Given the description of an element on the screen output the (x, y) to click on. 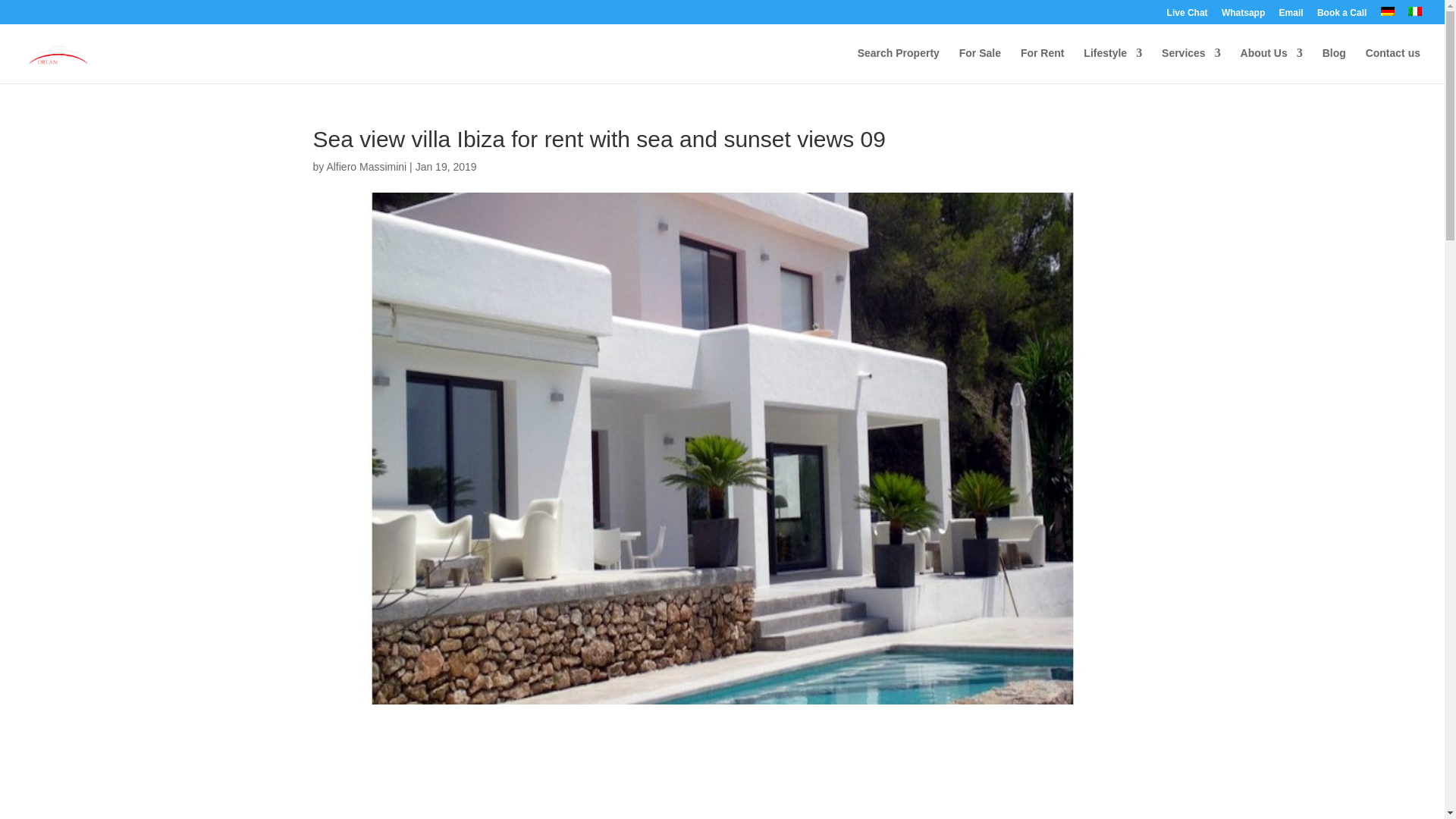
For Sale (980, 65)
Services (1191, 65)
Live Chat (1187, 16)
Posts by Alfiero Massimini (366, 166)
About Us (1271, 65)
Search Property (898, 65)
Book a Call (1342, 16)
Lifestyle (1112, 65)
Whatsapp (1243, 16)
Email (1291, 16)
For Rent (1042, 65)
Alfiero Massimini (366, 166)
Contact us (1393, 65)
